Given the description of an element on the screen output the (x, y) to click on. 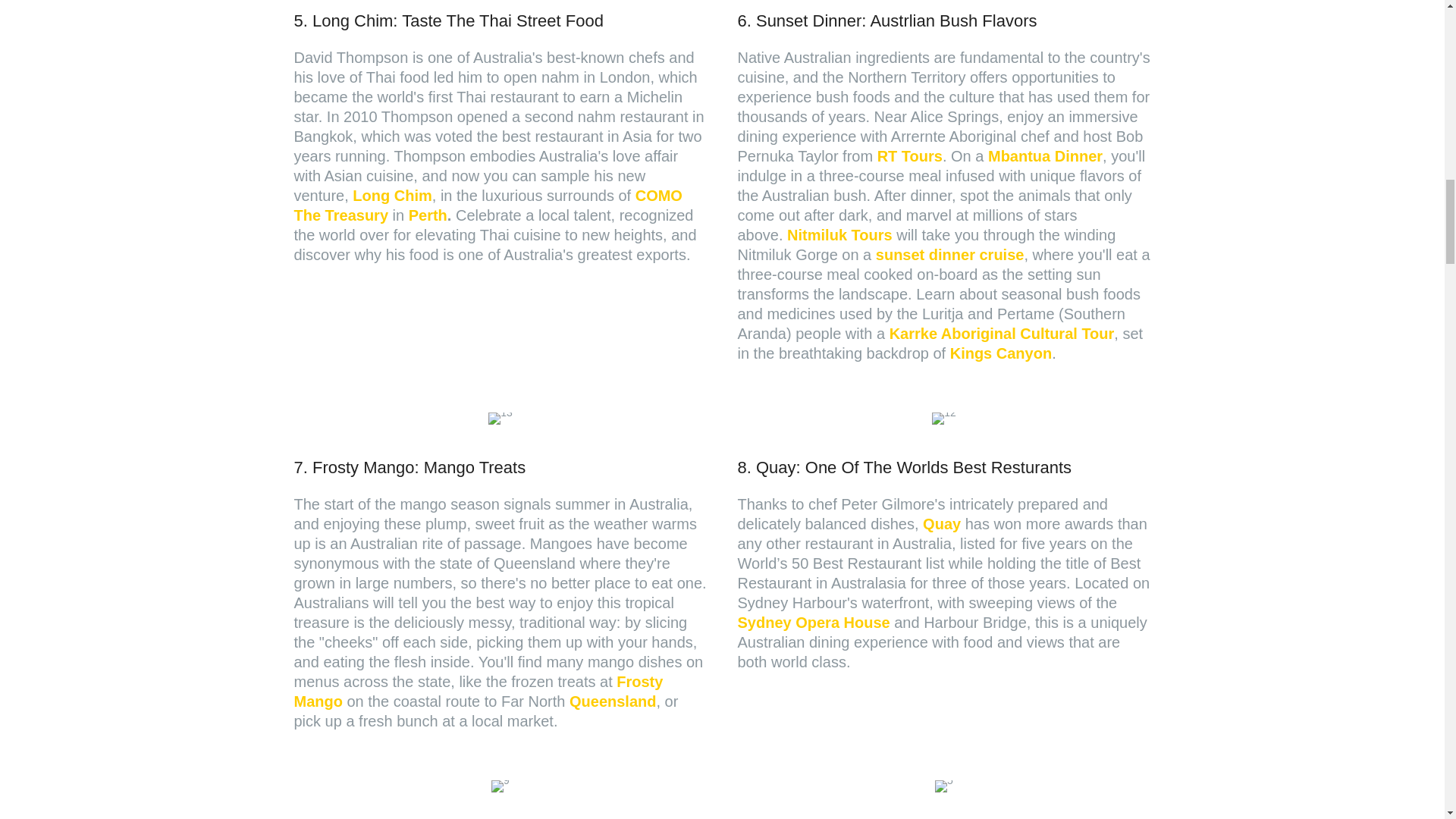
Karrke Aboriginal Cultural Tour (1002, 333)
Queensland (612, 701)
sunset dinner cruise (950, 254)
13 (499, 418)
Mbantua Dinner (1045, 156)
Quay (941, 523)
Long Chim (391, 195)
Kings Canyon (1000, 352)
Perth (427, 215)
Frosty Mango (478, 691)
12 (943, 418)
COMO The Treasury (488, 205)
Sydney Opera House (812, 622)
Nitmiluk Tours (839, 234)
9 (500, 786)
